Given the description of an element on the screen output the (x, y) to click on. 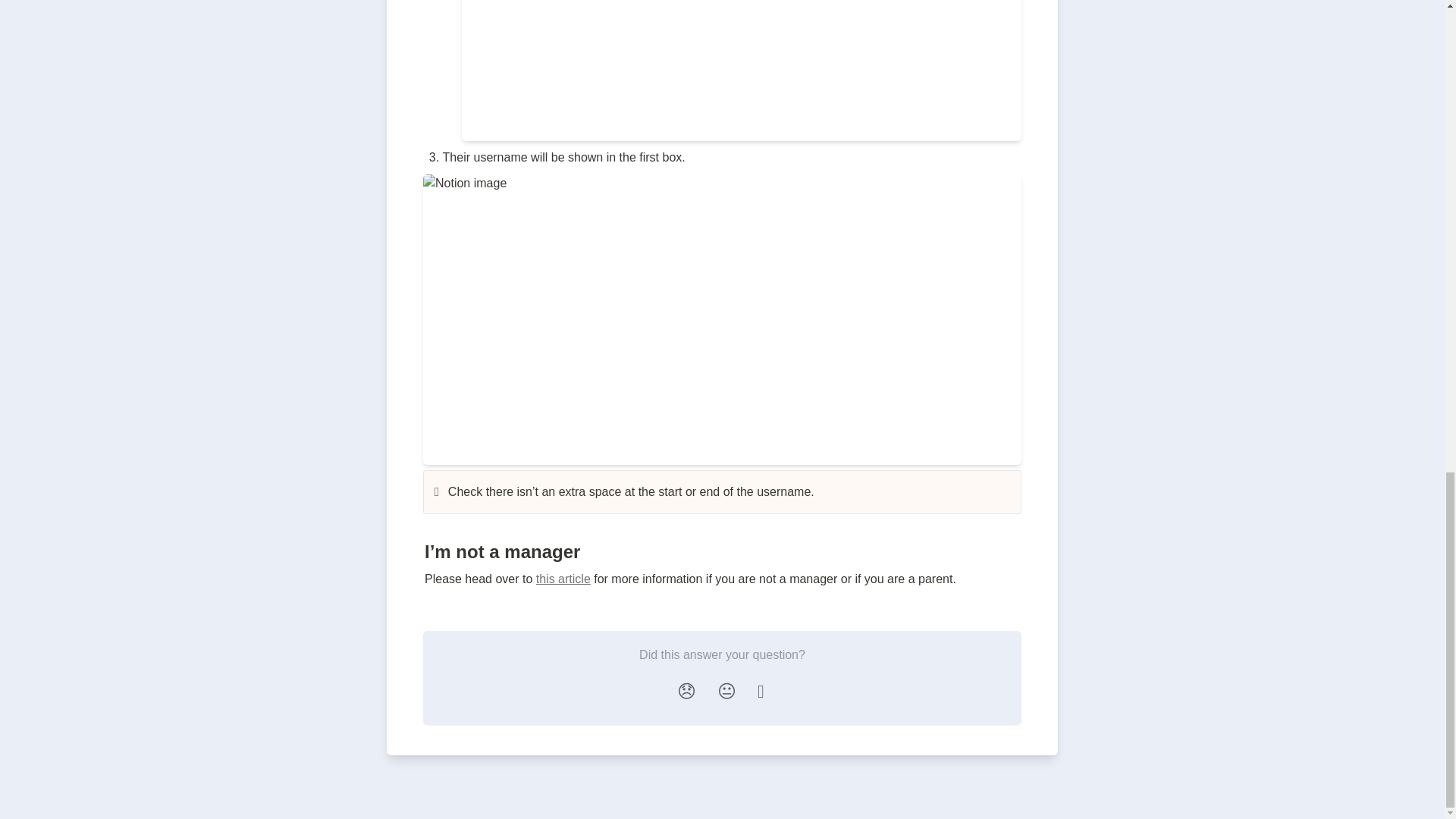
this article (563, 578)
